Given the description of an element on the screen output the (x, y) to click on. 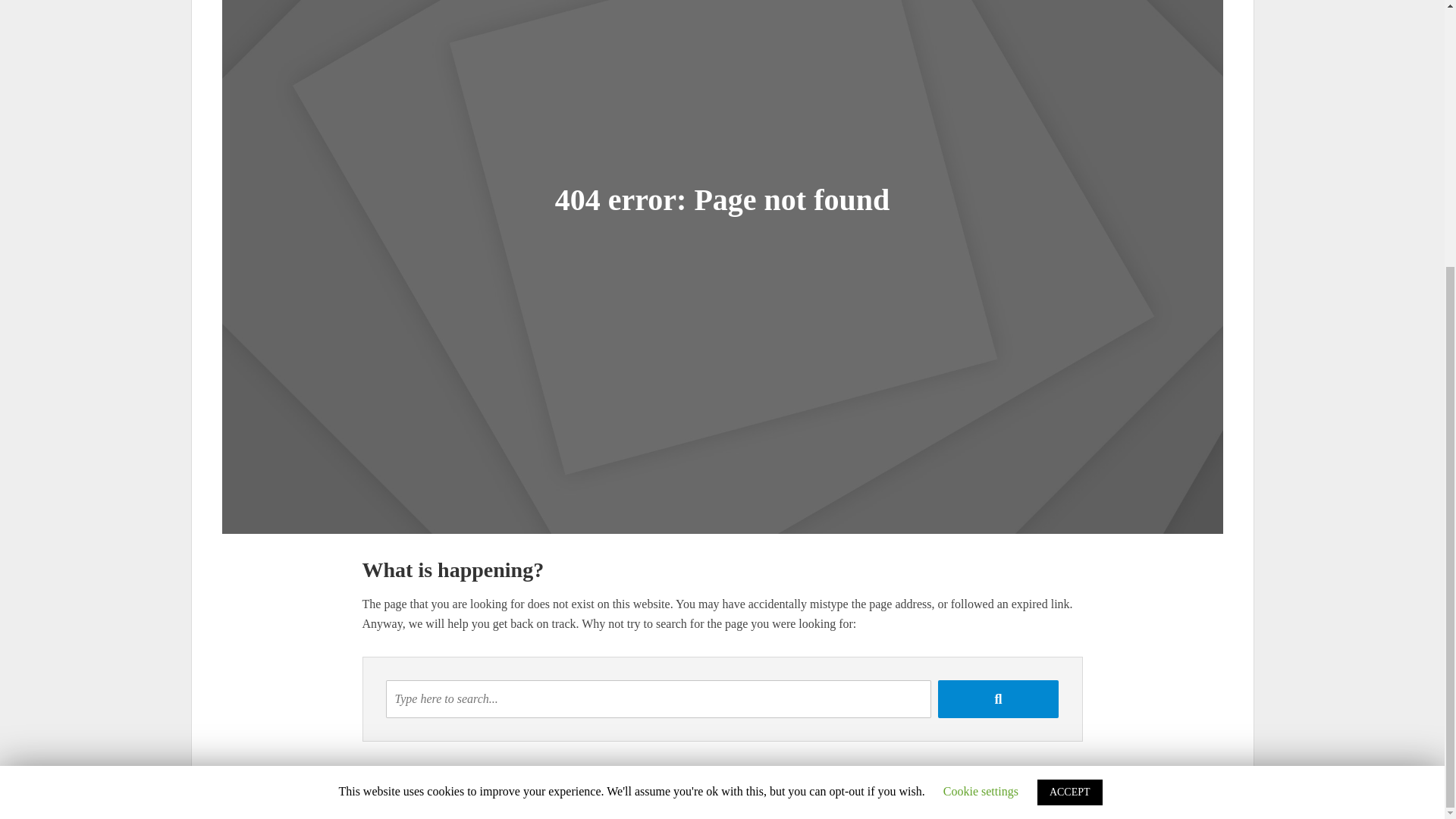
Meks (338, 801)
ACCEPT (1069, 404)
Cookie settings (980, 403)
WordPress (431, 801)
